Given the description of an element on the screen output the (x, y) to click on. 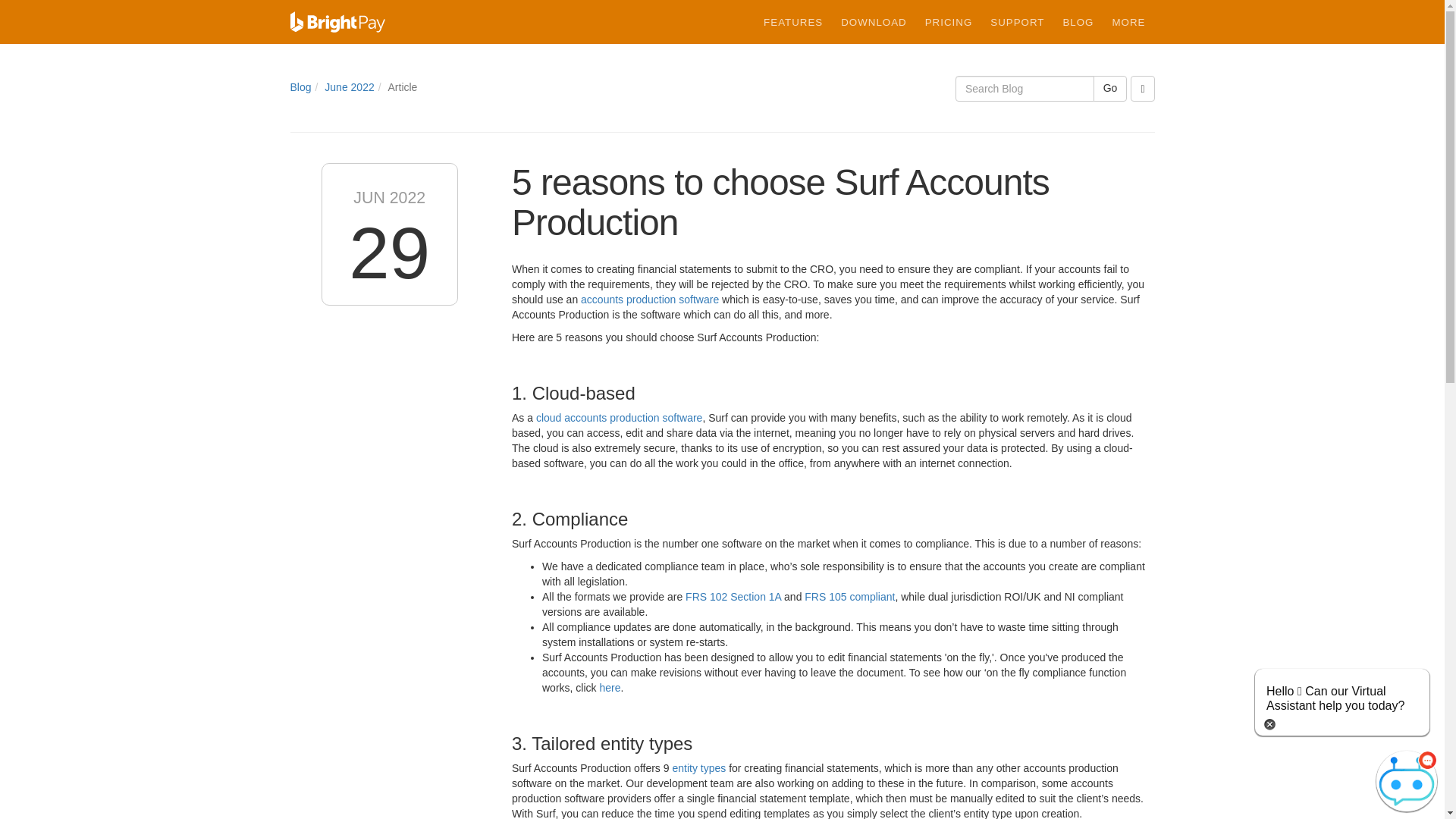
FEATURES (792, 22)
MORE (1128, 22)
PRICING (948, 22)
BLOG (1077, 22)
DOWNLOAD (873, 22)
SUPPORT (1016, 22)
Go (1109, 88)
